Given the description of an element on the screen output the (x, y) to click on. 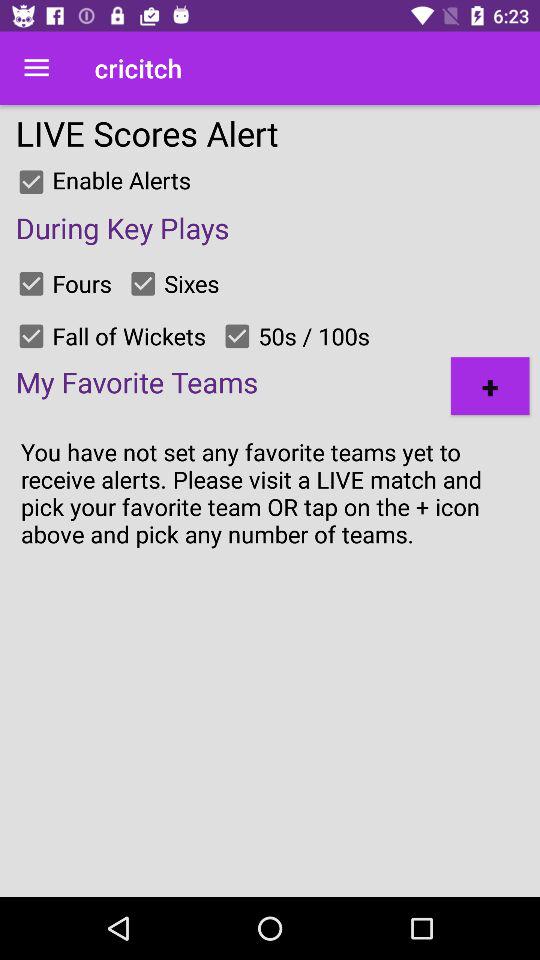
enable alerts (31, 182)
